Given the description of an element on the screen output the (x, y) to click on. 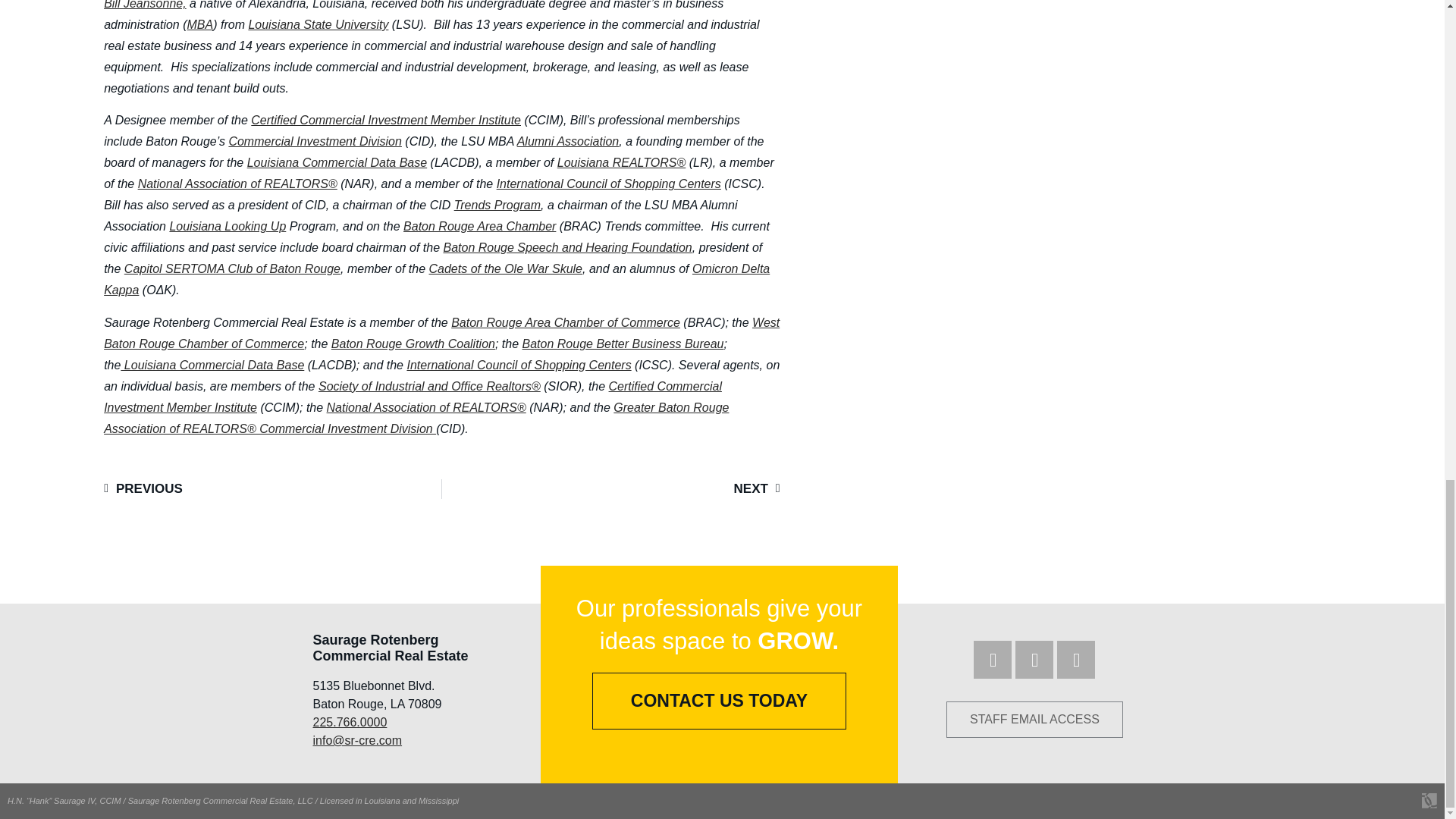
Certified Commercial Investment Member Institute (385, 119)
Bill Jeansonne, (144, 4)
Commercial Investment Division (314, 141)
MBA (200, 24)
Louisiana State University (317, 24)
Alumni Association (568, 141)
